Given the description of an element on the screen output the (x, y) to click on. 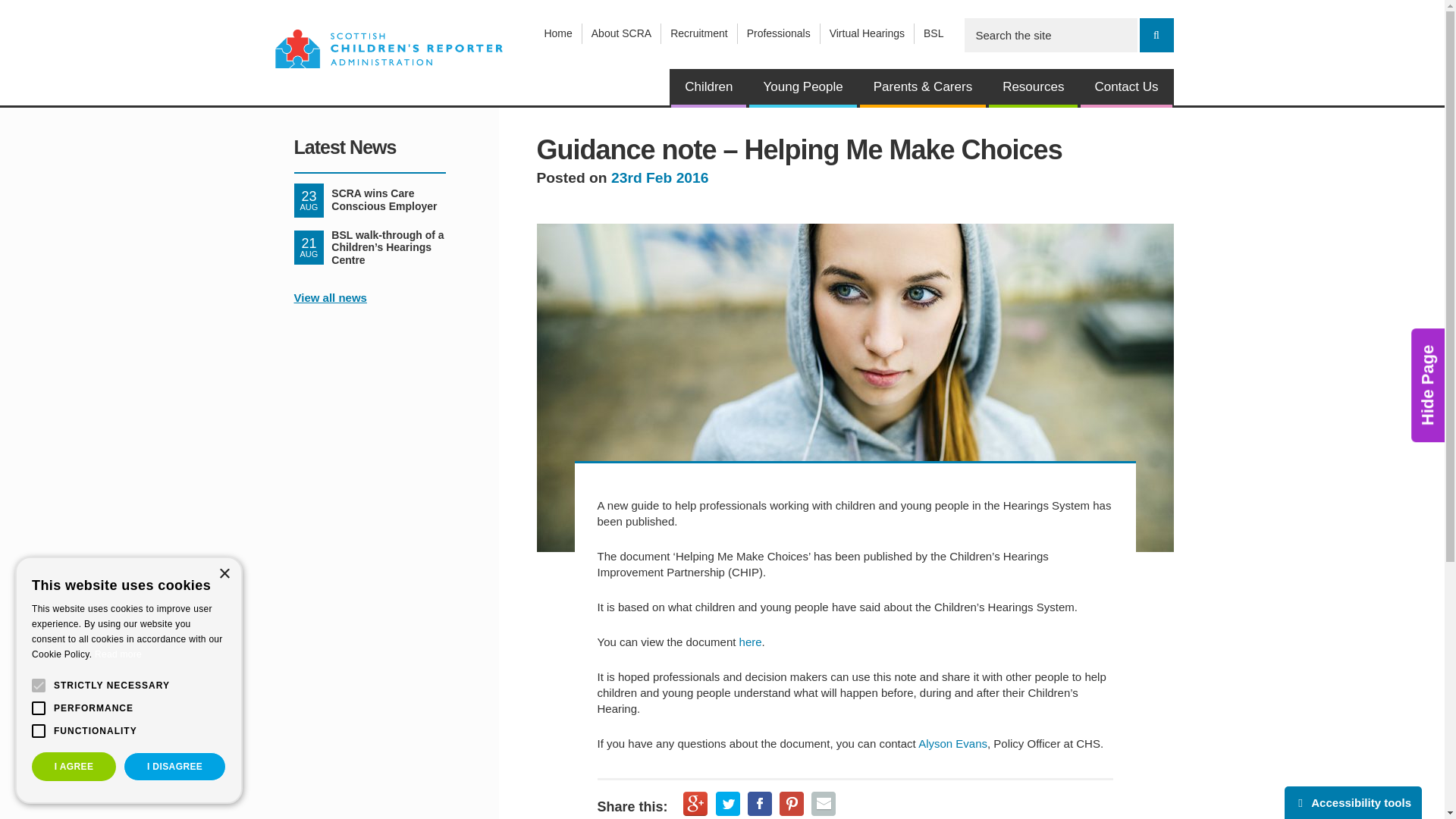
Recruitment (698, 33)
Home (557, 33)
Resources (1032, 87)
Alyson Evans (952, 743)
here (750, 641)
View all news (330, 297)
Contact Us (1126, 87)
Search (1155, 35)
Accessibility tools (1353, 802)
About SCRA (621, 33)
